Given the description of an element on the screen output the (x, y) to click on. 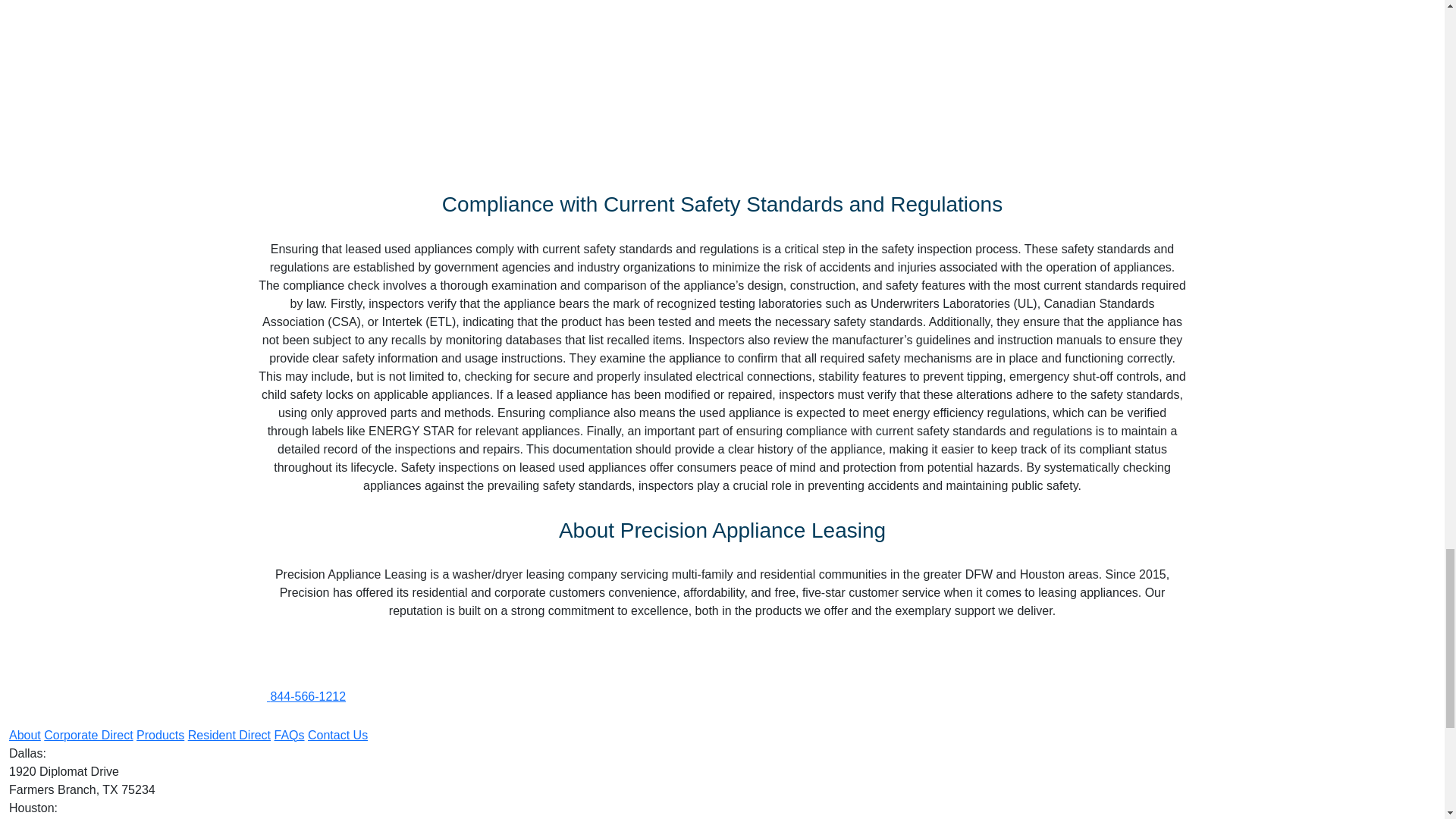
About (24, 735)
Contact Us (337, 735)
Products (160, 735)
844-566-1212 (307, 696)
Resident Direct (228, 735)
Corporate Direct (87, 735)
FAQs (289, 735)
